Given the description of an element on the screen output the (x, y) to click on. 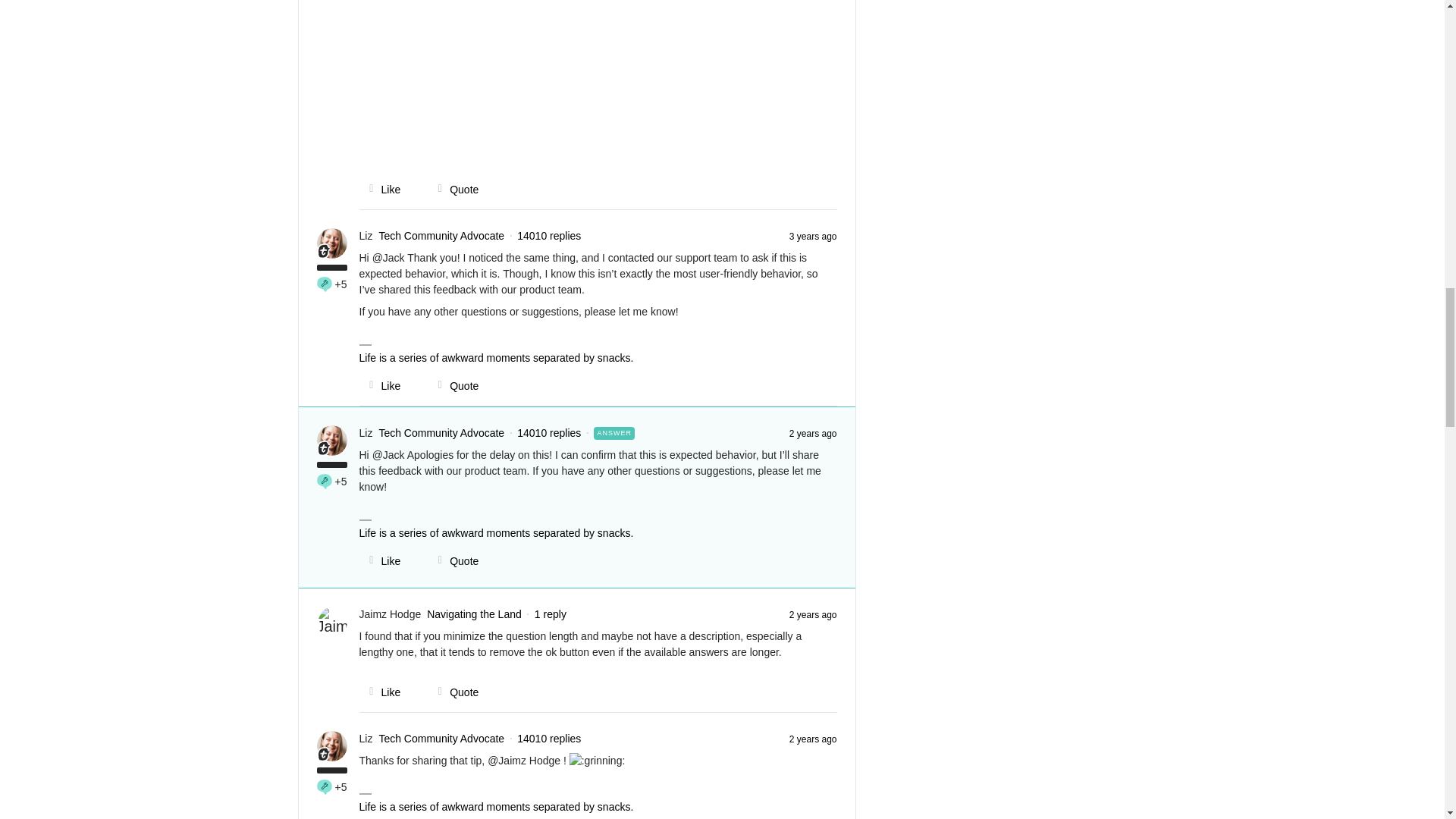
2 years ago (813, 613)
Community Team (323, 447)
Engineer (324, 283)
Community Team (323, 754)
2 years ago (813, 432)
Engineer (324, 786)
Quote (453, 189)
3 years ago (813, 235)
Jaimz Hodge (390, 614)
Like (380, 692)
